Given the description of an element on the screen output the (x, y) to click on. 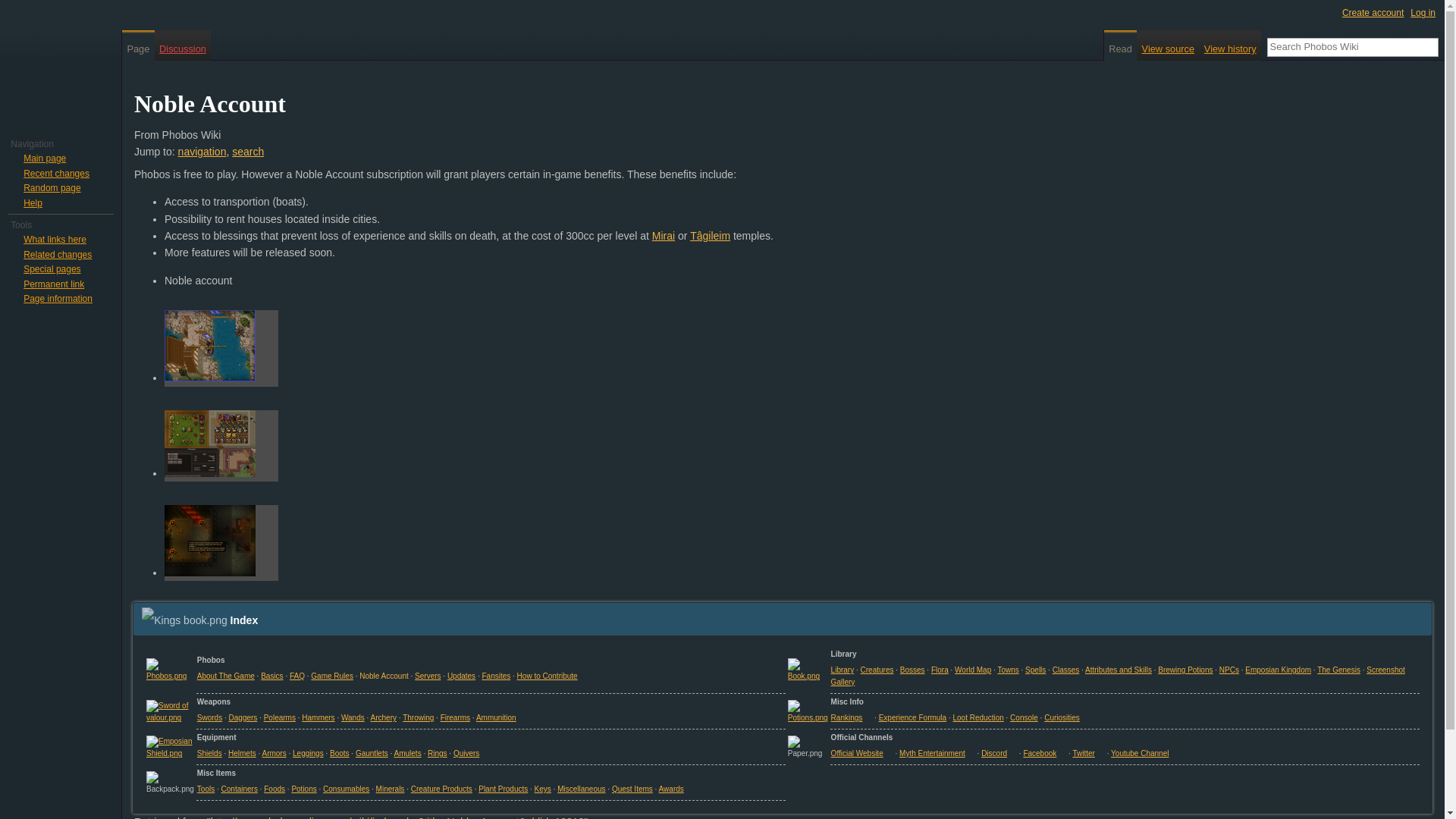
Towns (1007, 669)
FAQ (296, 675)
World Map (973, 669)
Game Rules (332, 675)
Go (1429, 46)
Flora (940, 669)
How to Contribute (547, 675)
Search (1429, 46)
Attributes and Skills (1117, 669)
About The Game (225, 675)
World Map (973, 669)
How to Contribute (547, 675)
Mirai (663, 235)
Towns (1007, 669)
Creatures (876, 669)
